Given the description of an element on the screen output the (x, y) to click on. 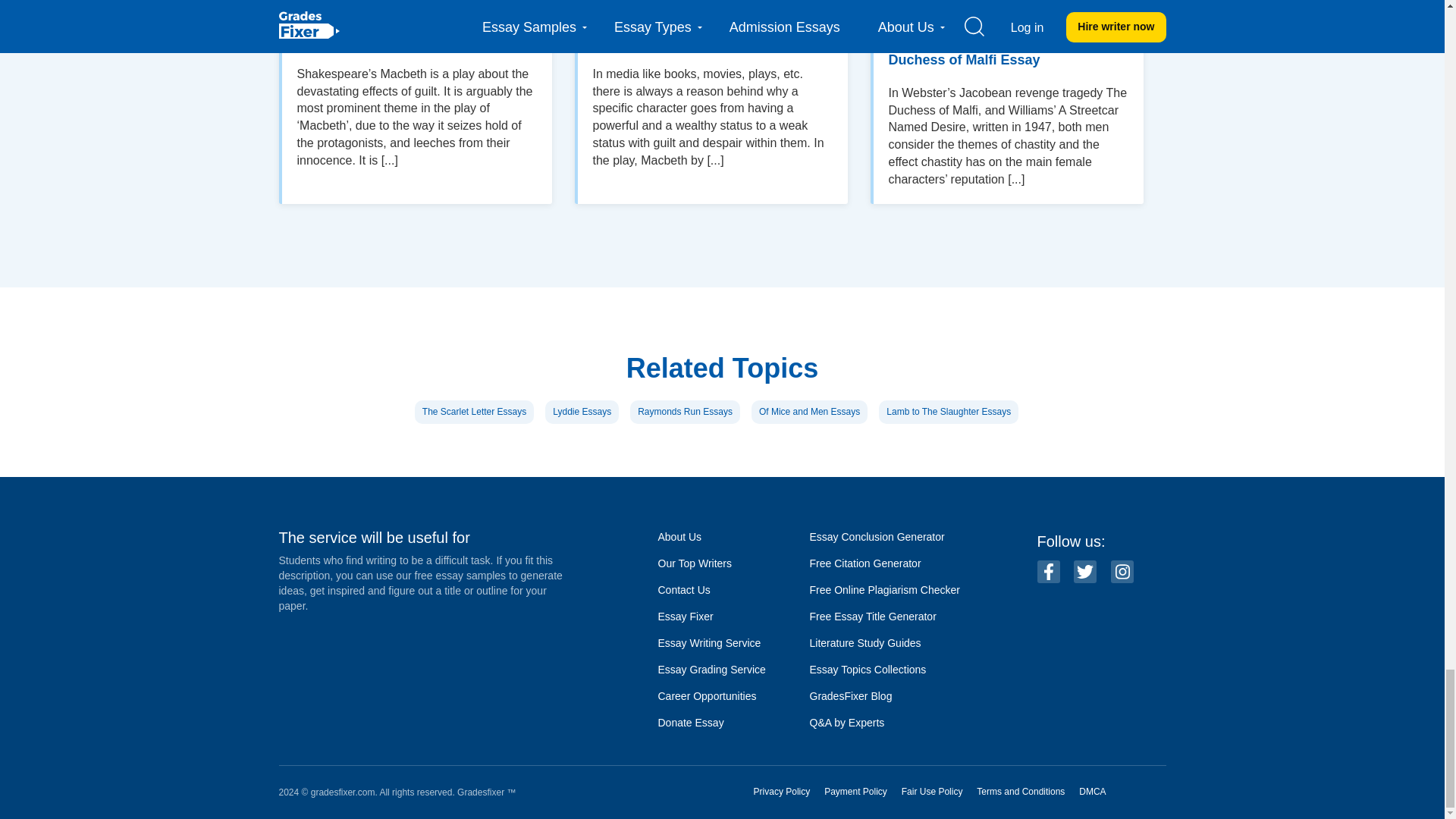
DMCA.com Protection Status (1143, 792)
